Given the description of an element on the screen output the (x, y) to click on. 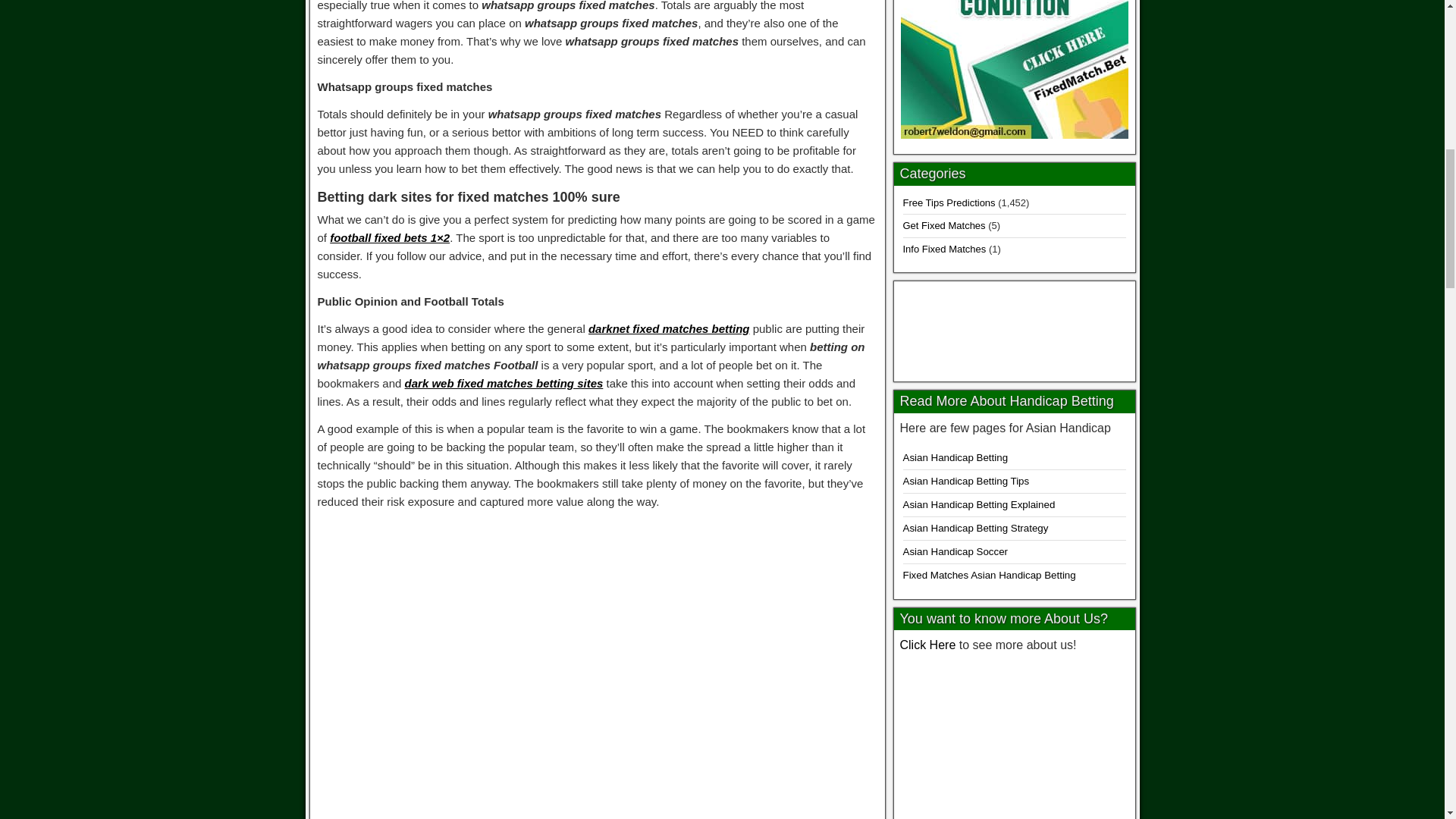
darknet fixed matches betting (668, 328)
Get Fixed Matches (943, 225)
dark web fixed matches betting sites (504, 382)
Free Tips Predictions (948, 202)
winning tips predictions sources (1013, 738)
fixed matches 1x2 (1014, 328)
